Given the description of an element on the screen output the (x, y) to click on. 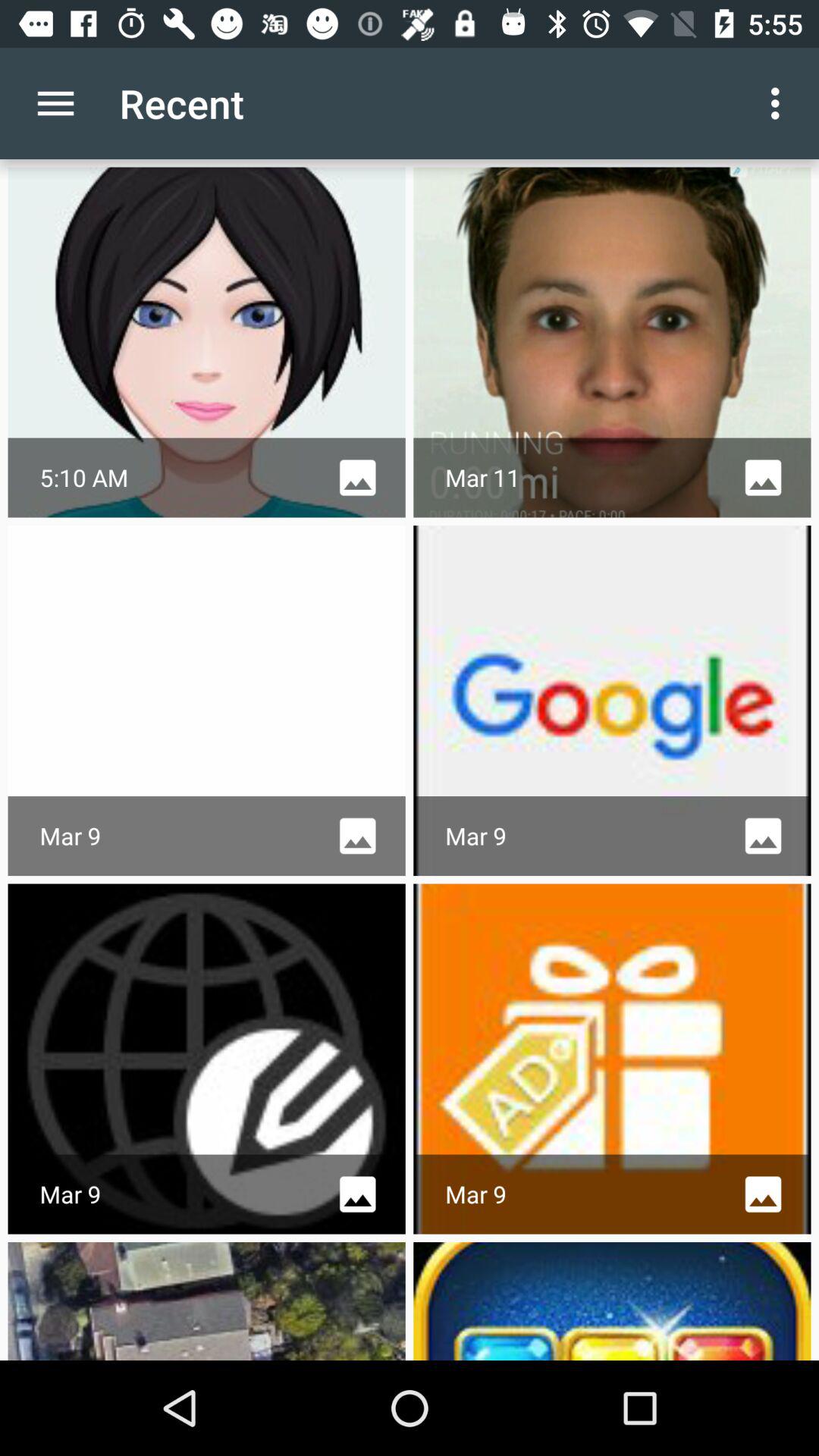
tap app to the left of recent app (55, 103)
